Given the description of an element on the screen output the (x, y) to click on. 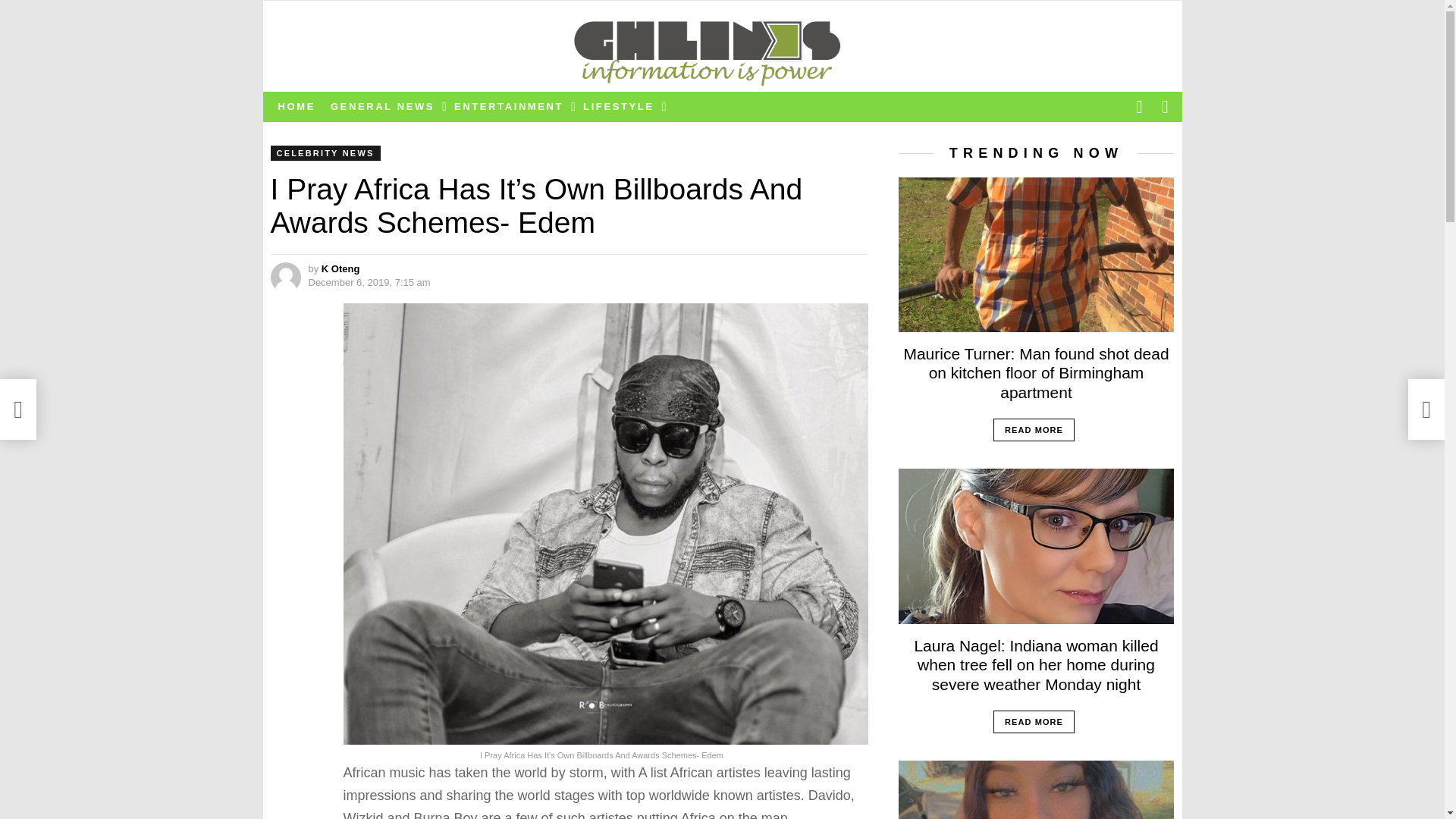
ENTERTAINMENT (510, 106)
GENERAL NEWS (384, 106)
K Oteng (340, 268)
LIFESTYLE (620, 106)
HOME (295, 106)
CELEBRITY NEWS (324, 152)
Posts by K Oteng (340, 268)
